Given the description of an element on the screen output the (x, y) to click on. 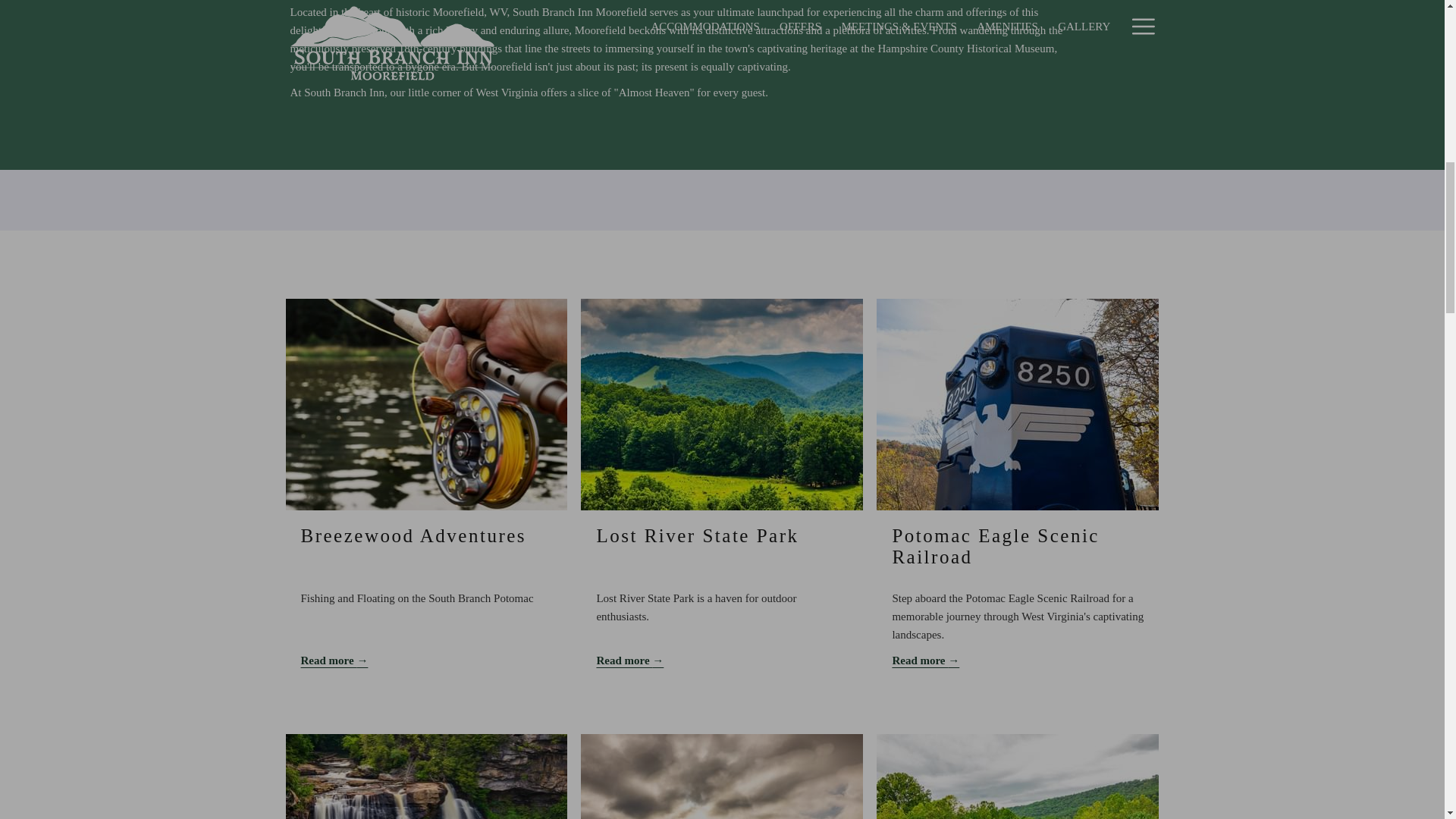
Read more (425, 660)
Breezewood Adventures (412, 535)
Lost River State Park (696, 535)
Potomac Eagle Scenic Railroad (995, 546)
Read more (1016, 660)
Read more (721, 660)
